Given the description of an element on the screen output the (x, y) to click on. 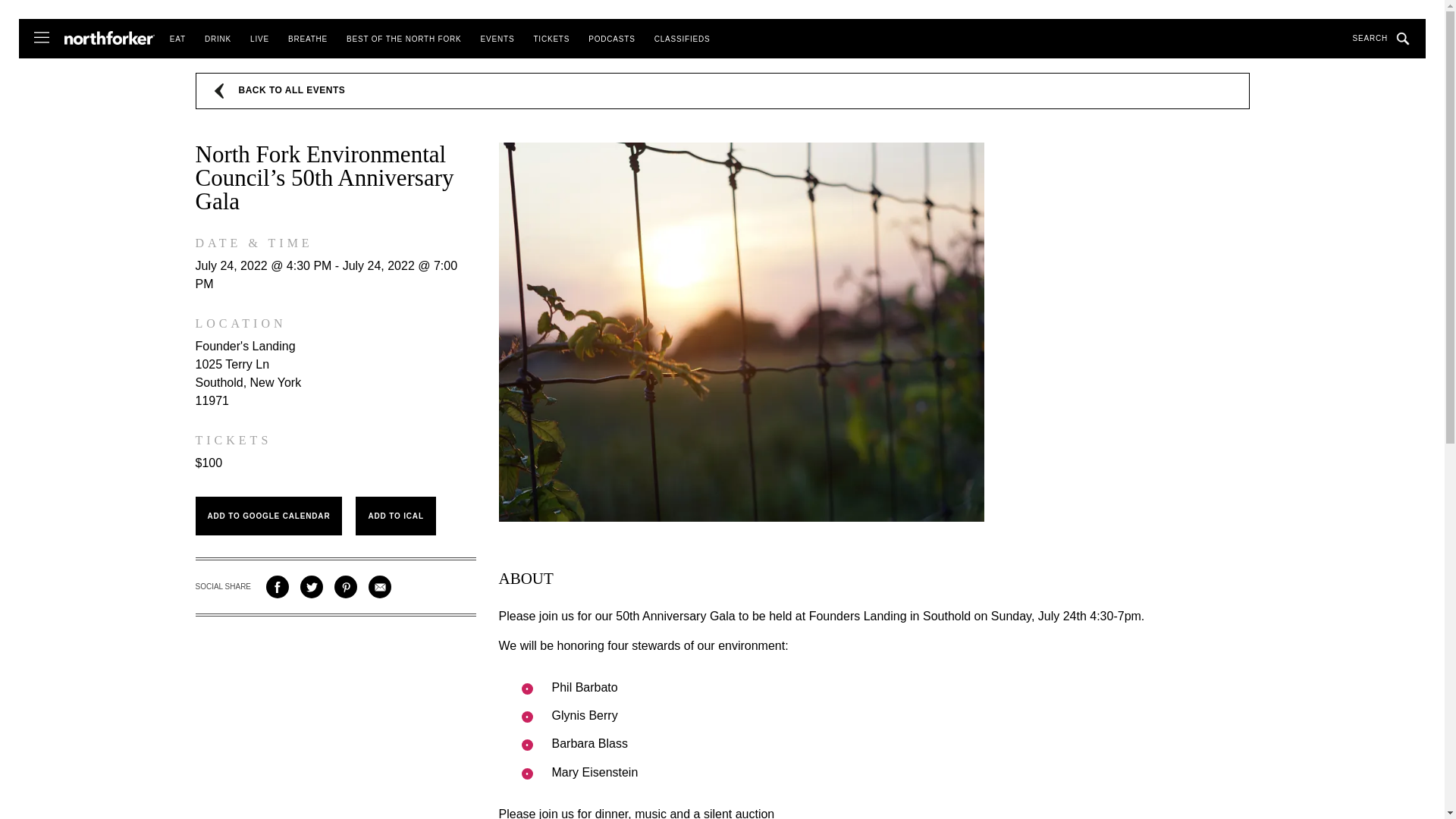
Tweet this! (311, 586)
CLASSIFIEDS (681, 39)
LIVE (259, 39)
BREATHE (307, 39)
Share via email. (379, 586)
Share via pinterest. (345, 586)
EAT (178, 39)
PODCASTS (611, 39)
BEST OF THE NORTH FORK (403, 39)
